Given the description of an element on the screen output the (x, y) to click on. 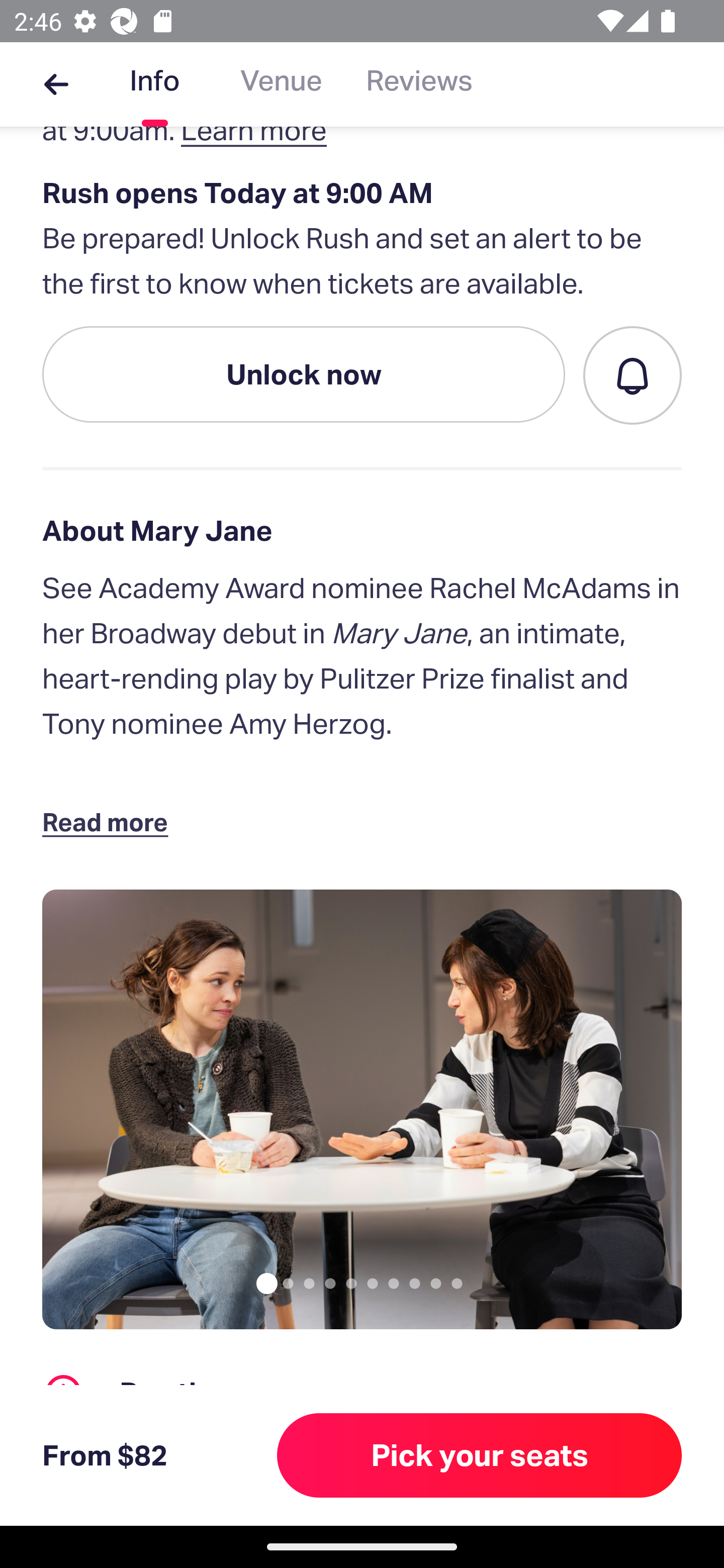
Venue (280, 84)
Reviews (419, 84)
Unlock now (303, 374)
About Mary Jane (361, 530)
Read more (109, 821)
Pick your seats (479, 1454)
